Given the description of an element on the screen output the (x, y) to click on. 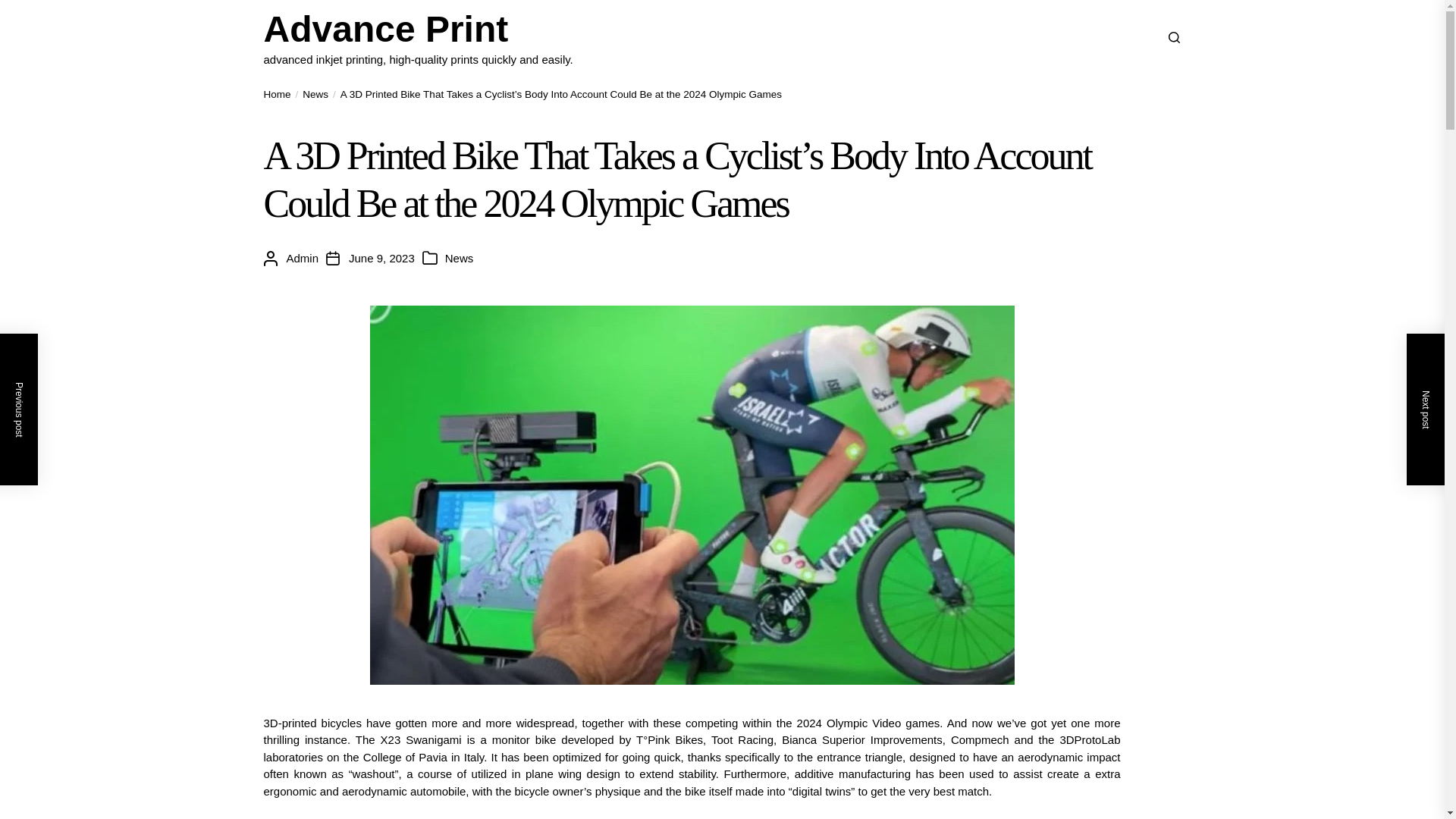
Home (277, 93)
News (459, 258)
June 9, 2023 (381, 258)
Advance Print (418, 29)
News (310, 93)
Admin (302, 258)
